Given the description of an element on the screen output the (x, y) to click on. 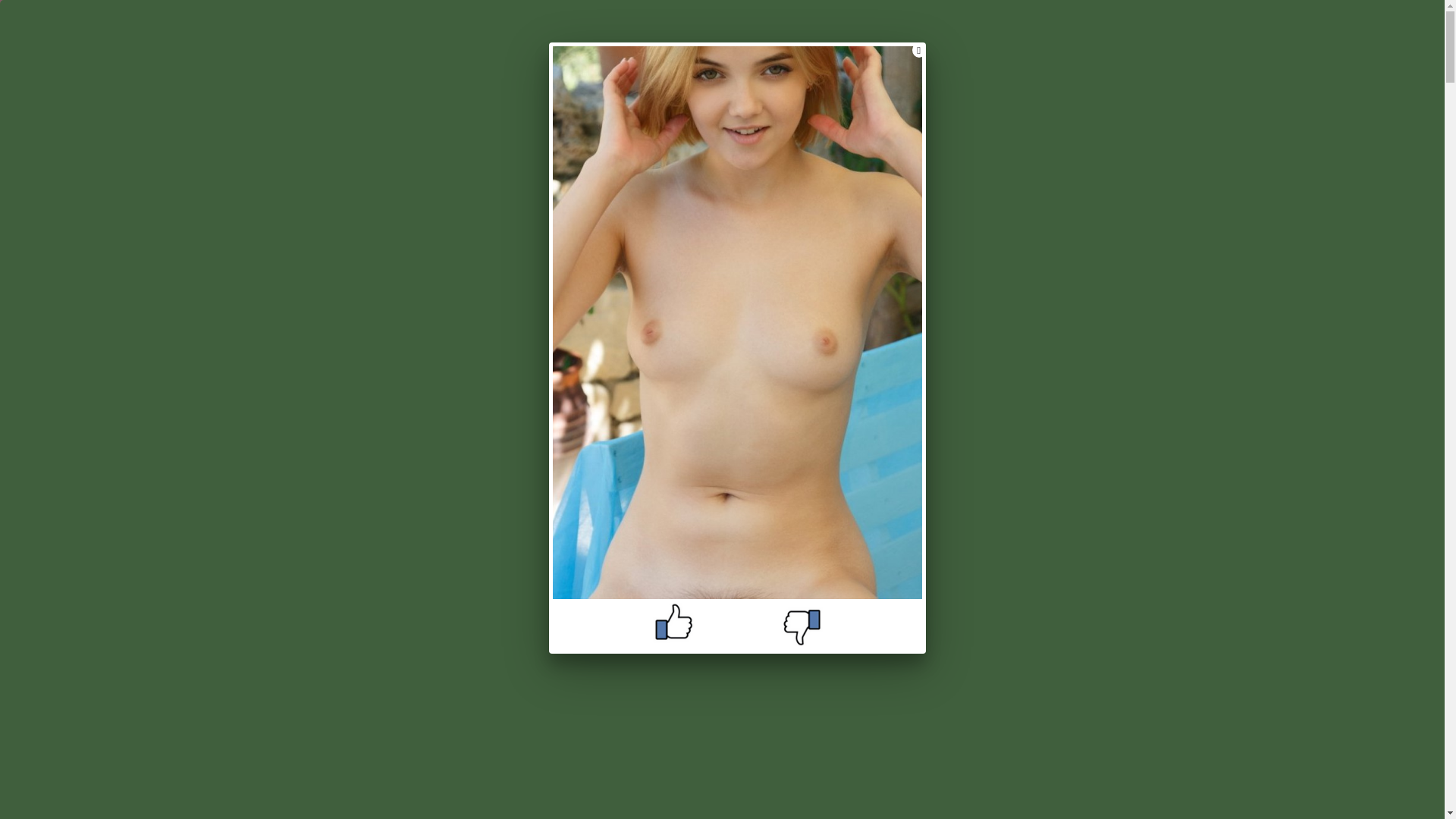
swinger liberal calahorra Element type: hover (721, 352)
Close Element type: hover (918, 49)
